Given the description of an element on the screen output the (x, y) to click on. 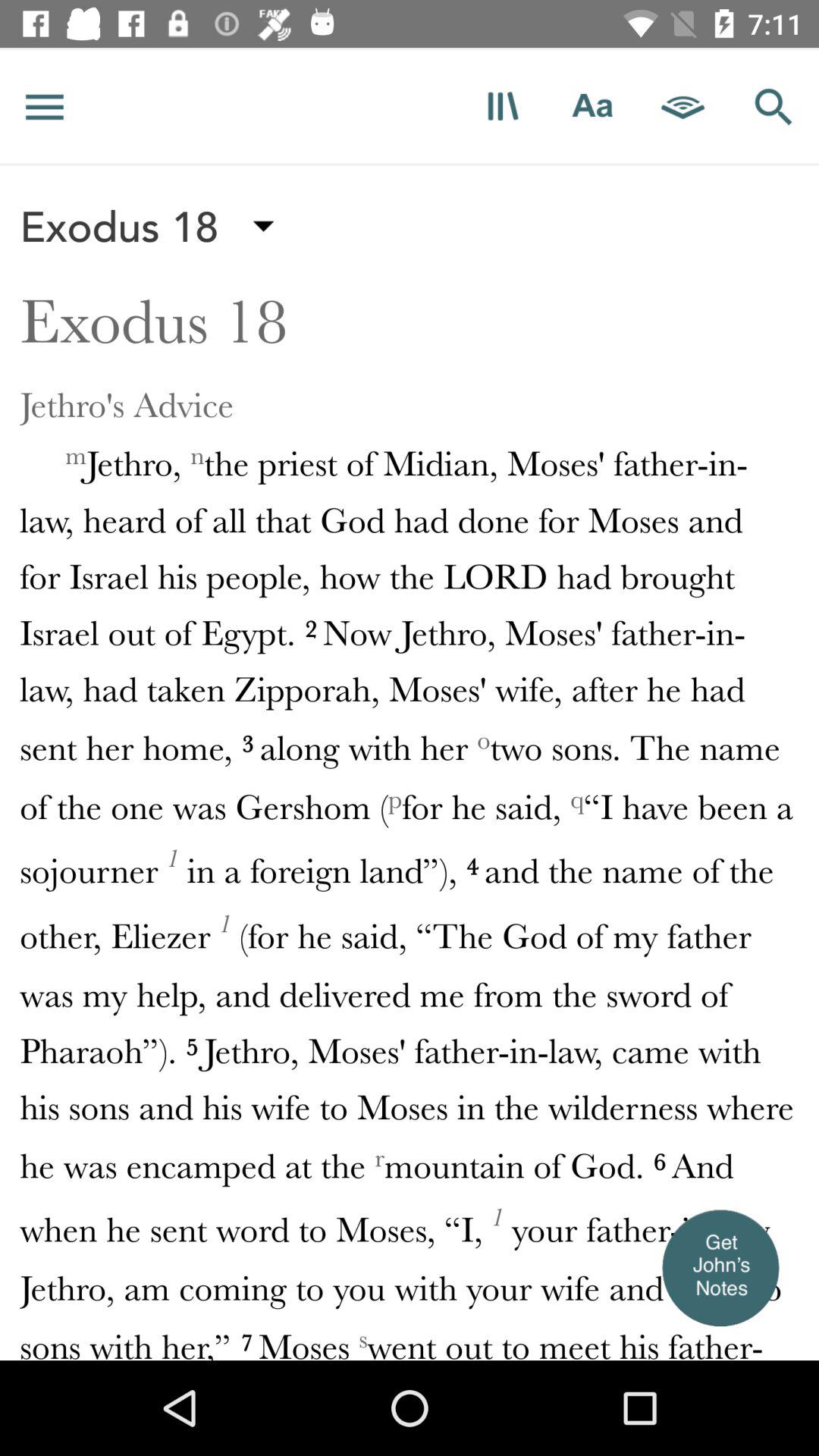
view menu (45, 106)
